Given the description of an element on the screen output the (x, y) to click on. 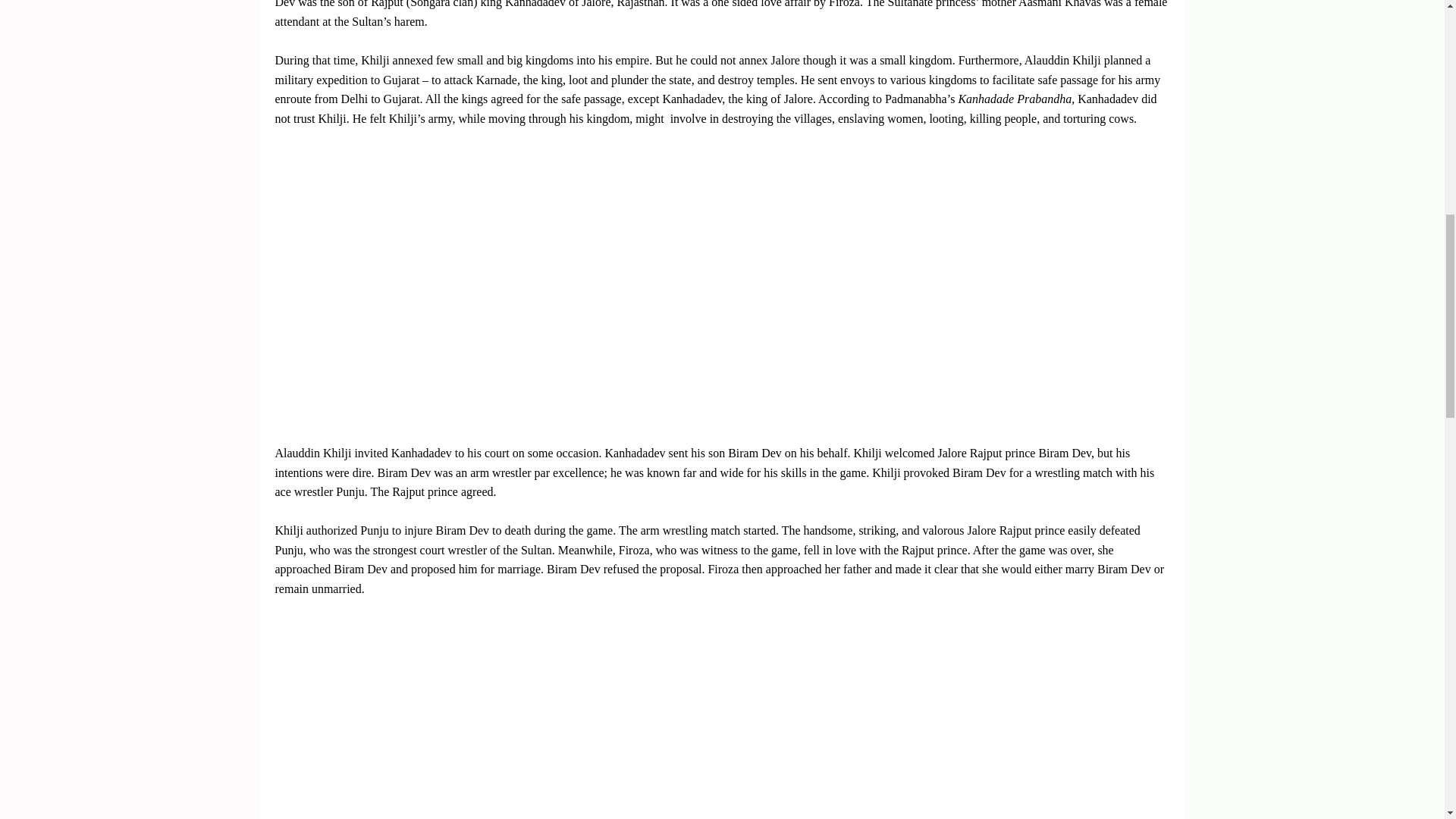
Advertisement (722, 169)
